Given the description of an element on the screen output the (x, y) to click on. 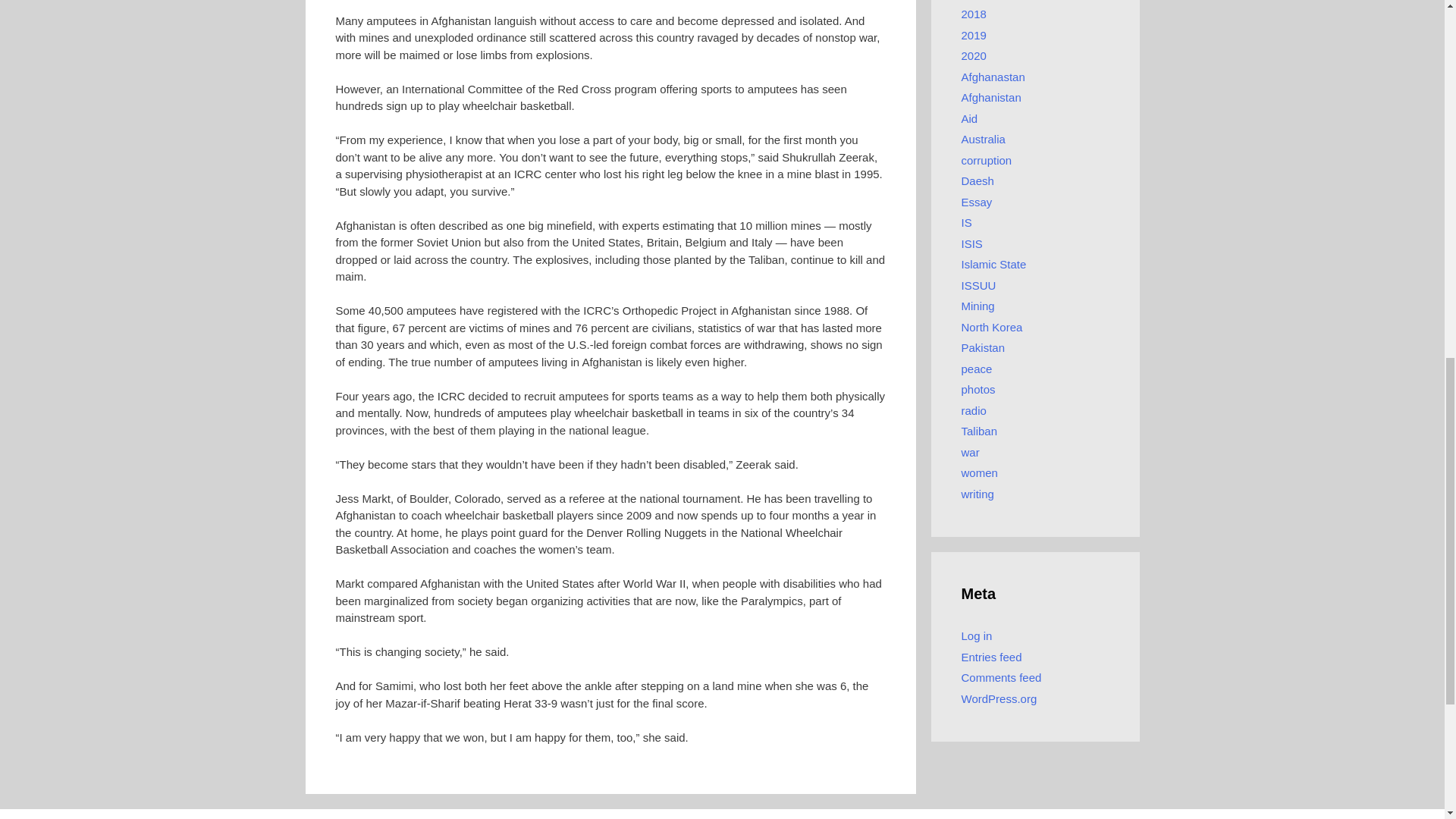
Afghanistan (991, 97)
ISIS (971, 242)
2018 (973, 13)
Aid (969, 118)
Daesh (977, 180)
corruption (985, 159)
Islamic State (993, 264)
2019 (973, 34)
2020 (973, 55)
Australia (983, 138)
Afghanastan (992, 75)
Essay (976, 201)
